Given the description of an element on the screen output the (x, y) to click on. 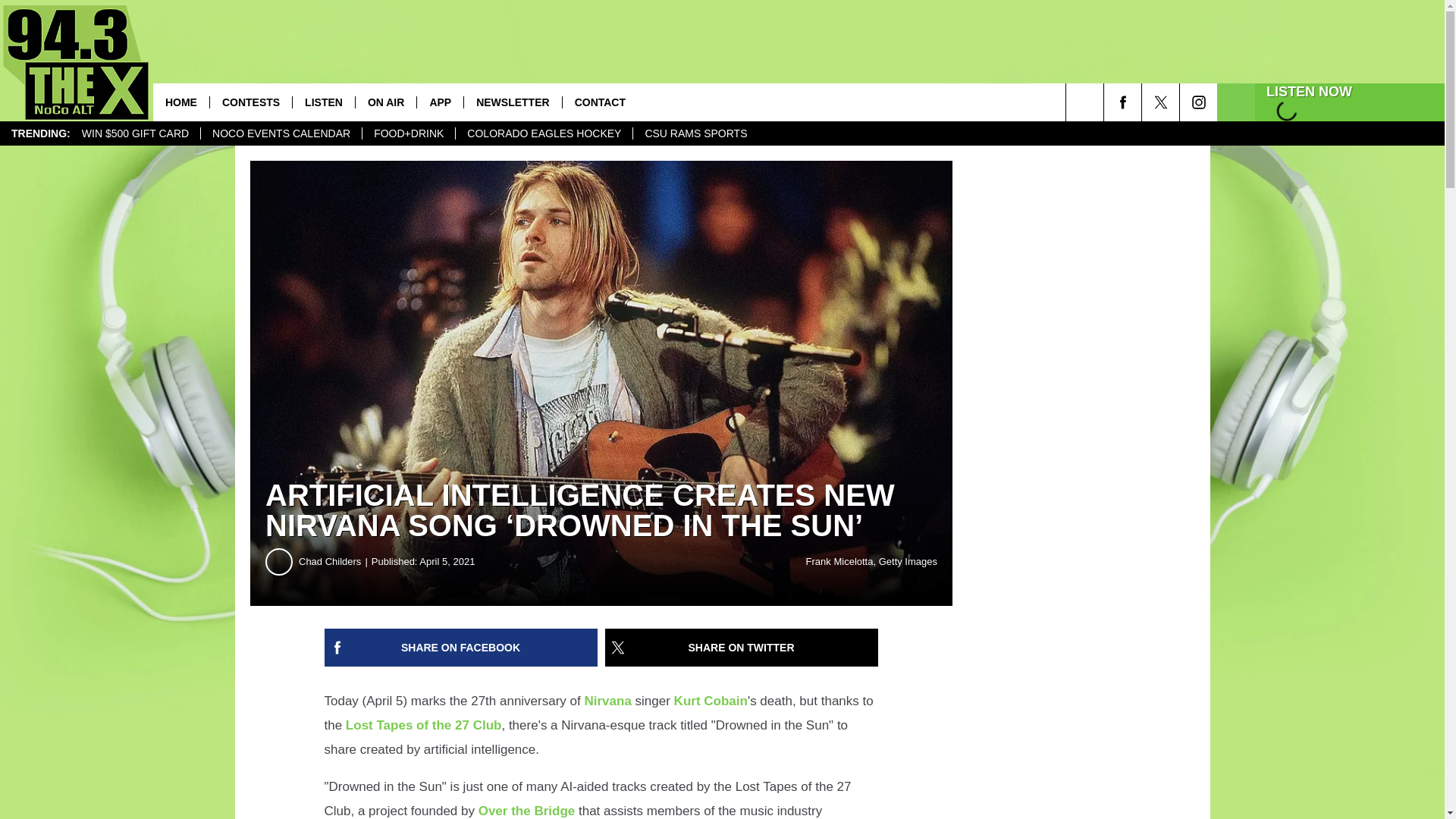
APP (439, 102)
Share on Facebook (460, 647)
CONTACT (599, 102)
Share on Twitter (741, 647)
CSU RAMS SPORTS (694, 133)
HOME (180, 102)
LISTEN (323, 102)
CONTESTS (250, 102)
ON AIR (385, 102)
COLORADO EAGLES HOCKEY (542, 133)
